Given the description of an element on the screen output the (x, y) to click on. 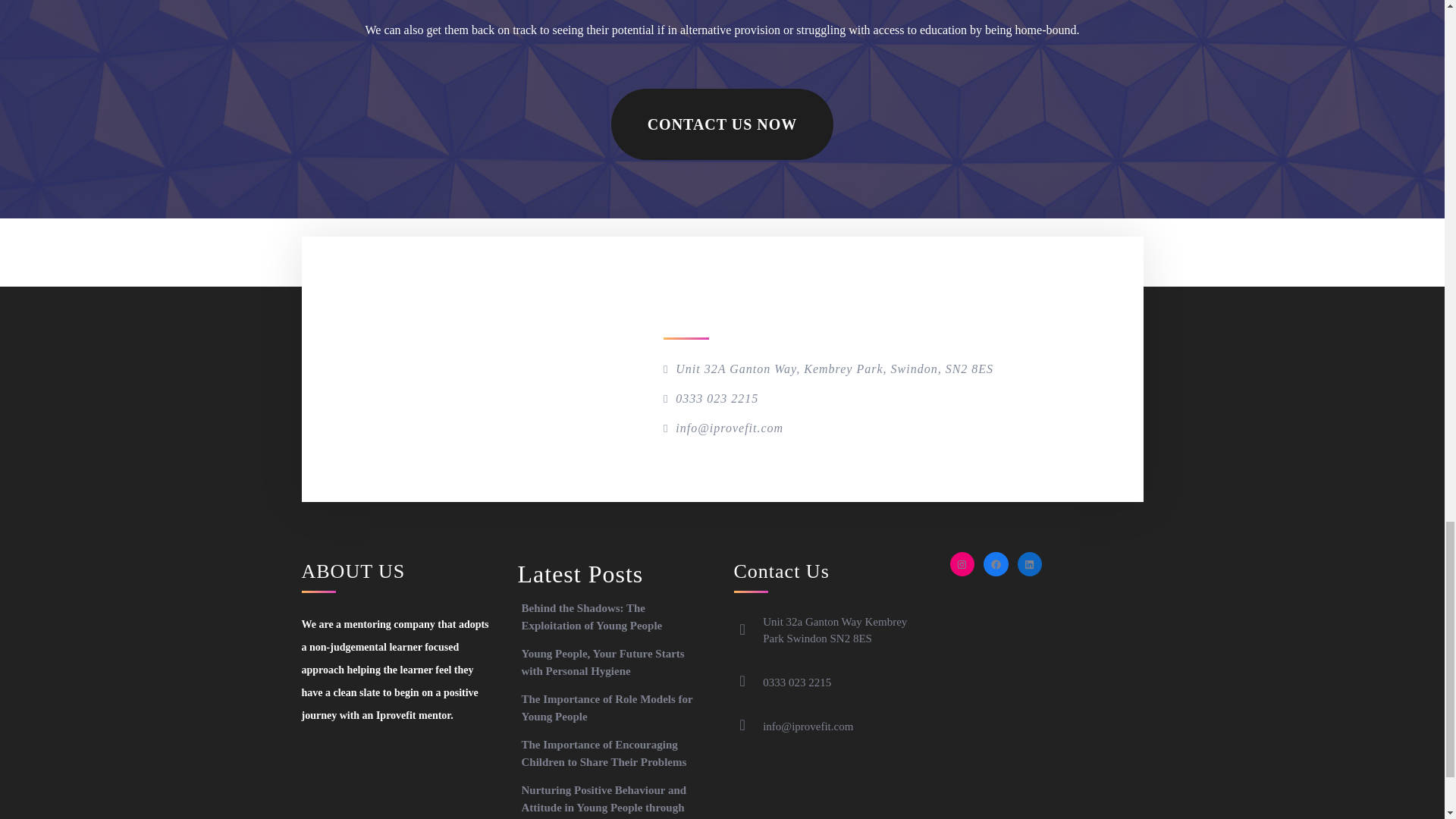
The Importance of Role Models for Young People (607, 707)
CONTACT US NOW (722, 123)
Young People, Your Future Starts with Personal Hygiene (602, 662)
Behind the Shadows: The Exploitation of Young People (591, 616)
